Given the description of an element on the screen output the (x, y) to click on. 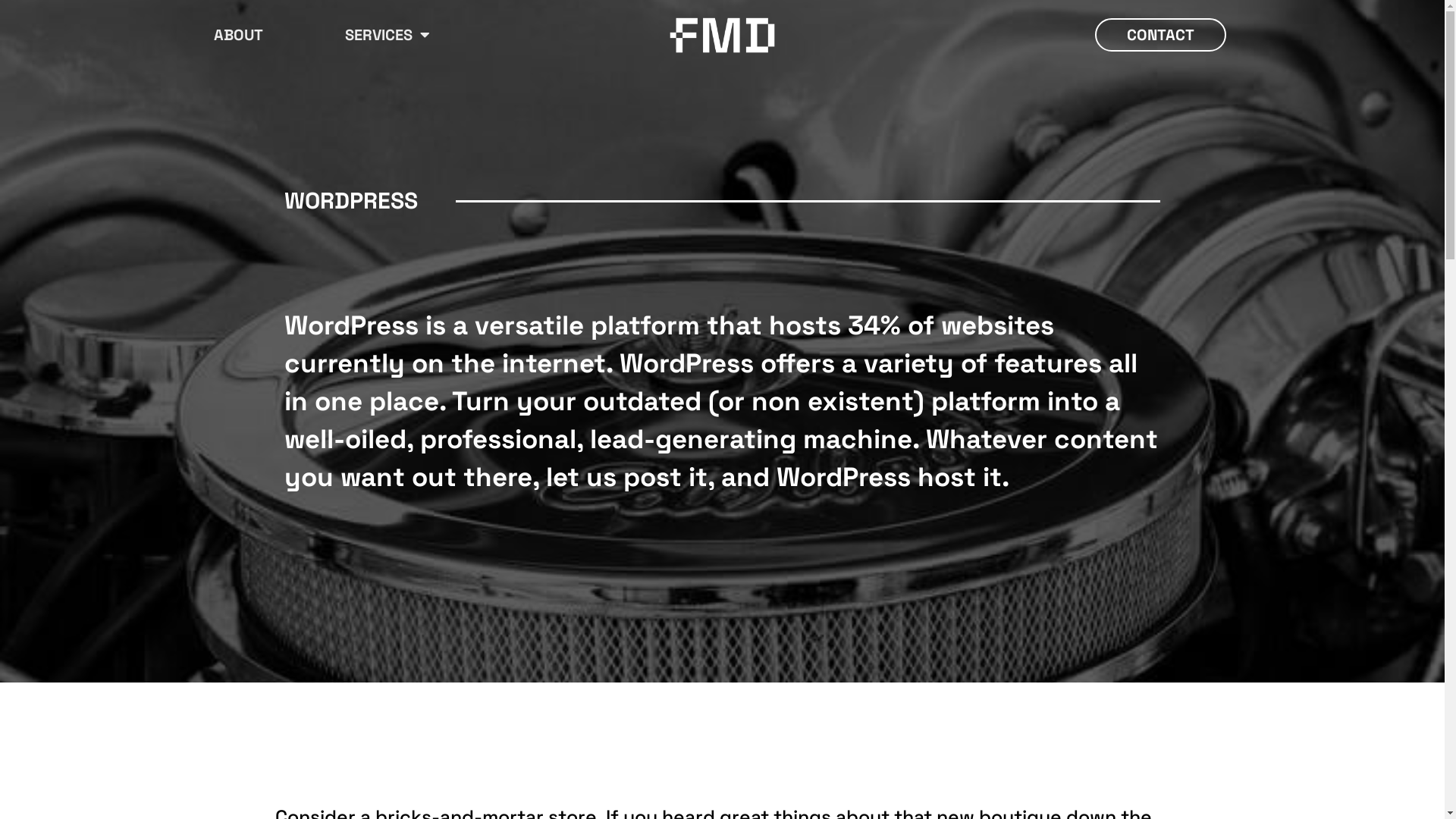
SERVICES Element type: text (386, 34)
ABOUT Element type: text (238, 34)
CONTACT Element type: text (1160, 34)
